Given the description of an element on the screen output the (x, y) to click on. 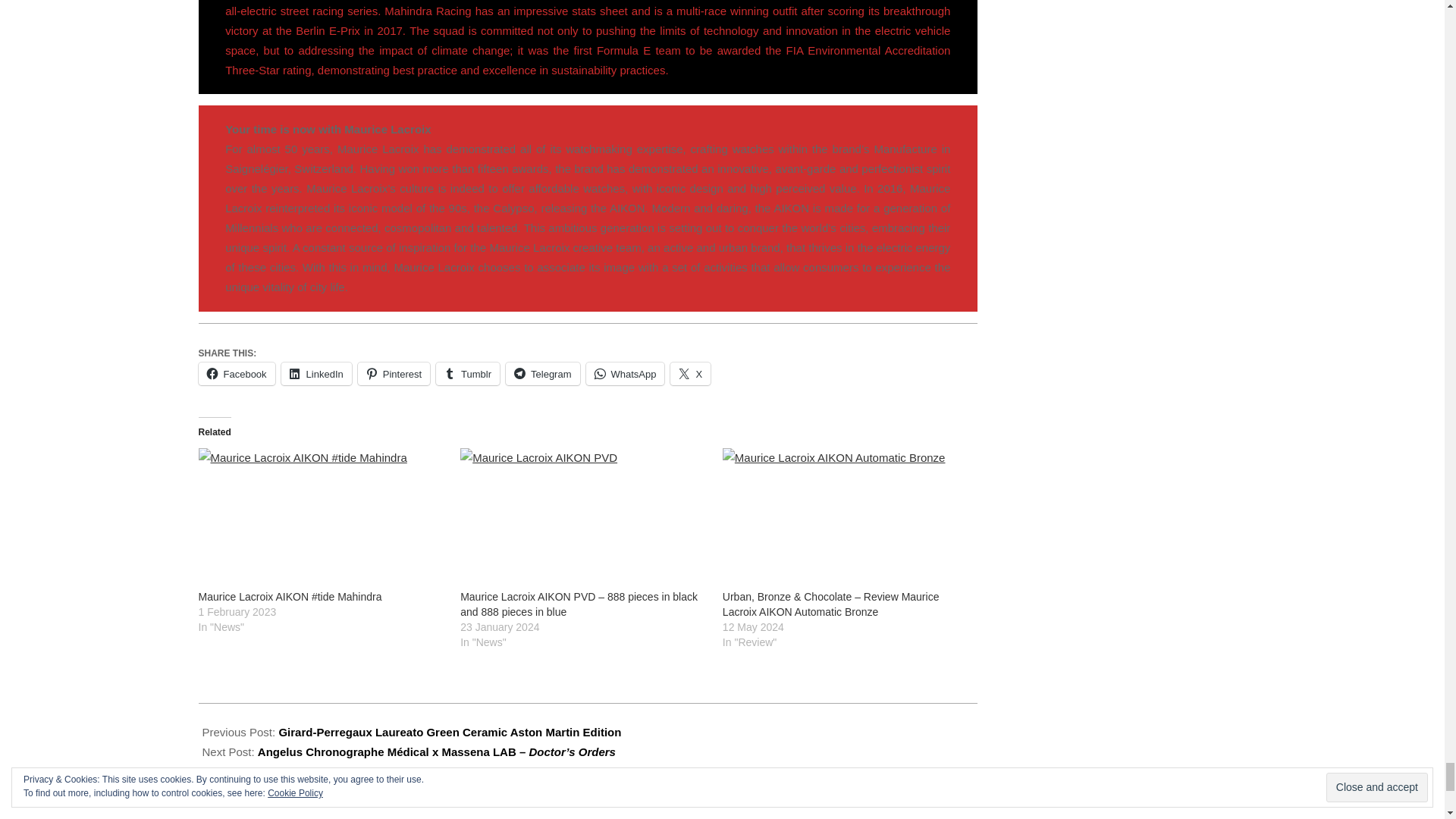
Click to share on LinkedIn (316, 373)
Click to share on WhatsApp (624, 373)
Click to share on X (689, 373)
Click to share on Telegram (542, 373)
Click to share on Facebook (236, 373)
Click to share on Pinterest (393, 373)
Click to share on Tumblr (467, 373)
